Given the description of an element on the screen output the (x, y) to click on. 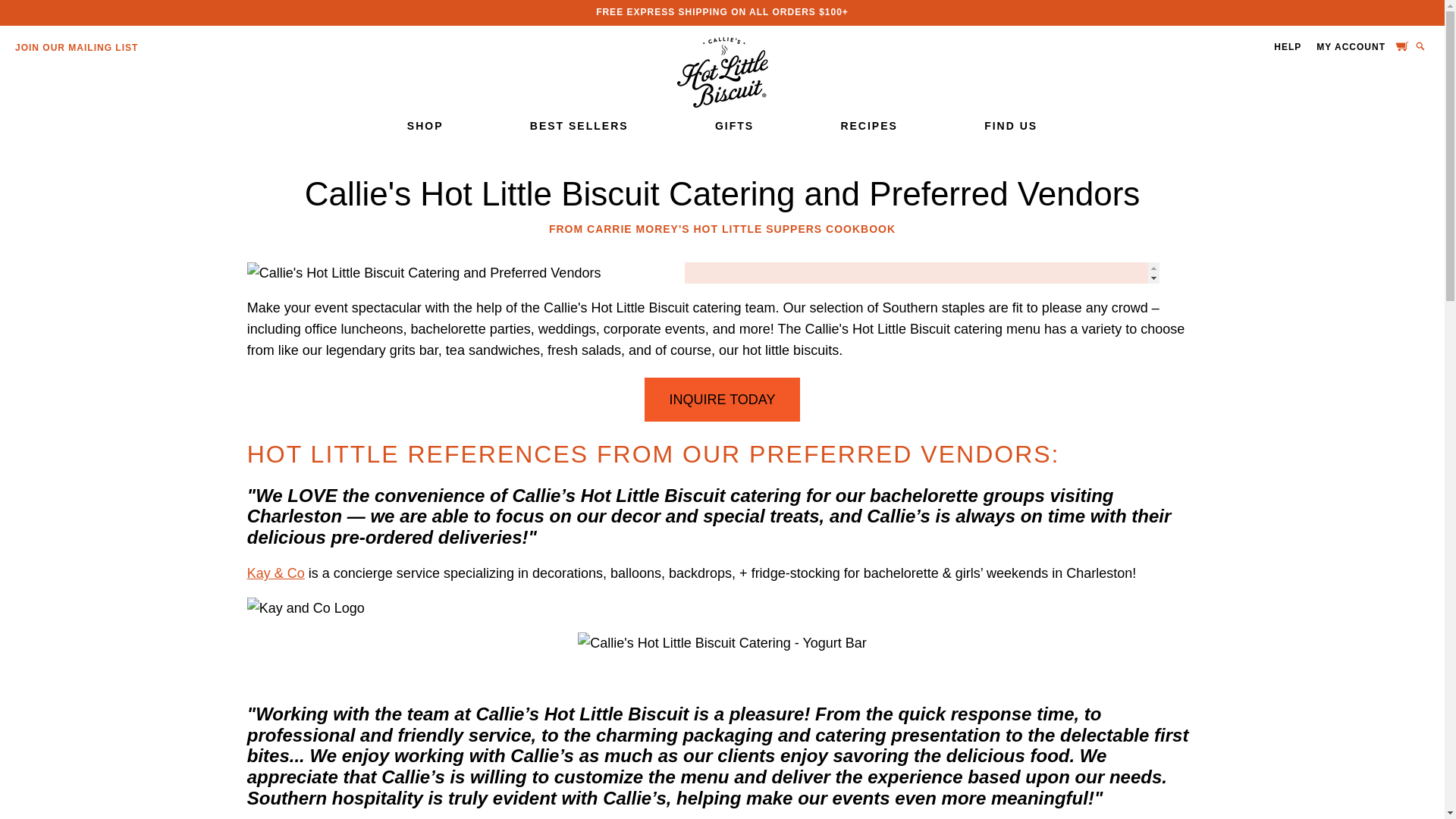
GIFTS (734, 125)
Kay and Co website (275, 572)
BEST SELLERS (578, 125)
RECIPES (868, 125)
MY ACCOUNT (1350, 47)
JOIN OUR MAILING LIST (76, 47)
SHOP (425, 125)
FIND US (1010, 125)
HELP (1287, 46)
